Given the description of an element on the screen output the (x, y) to click on. 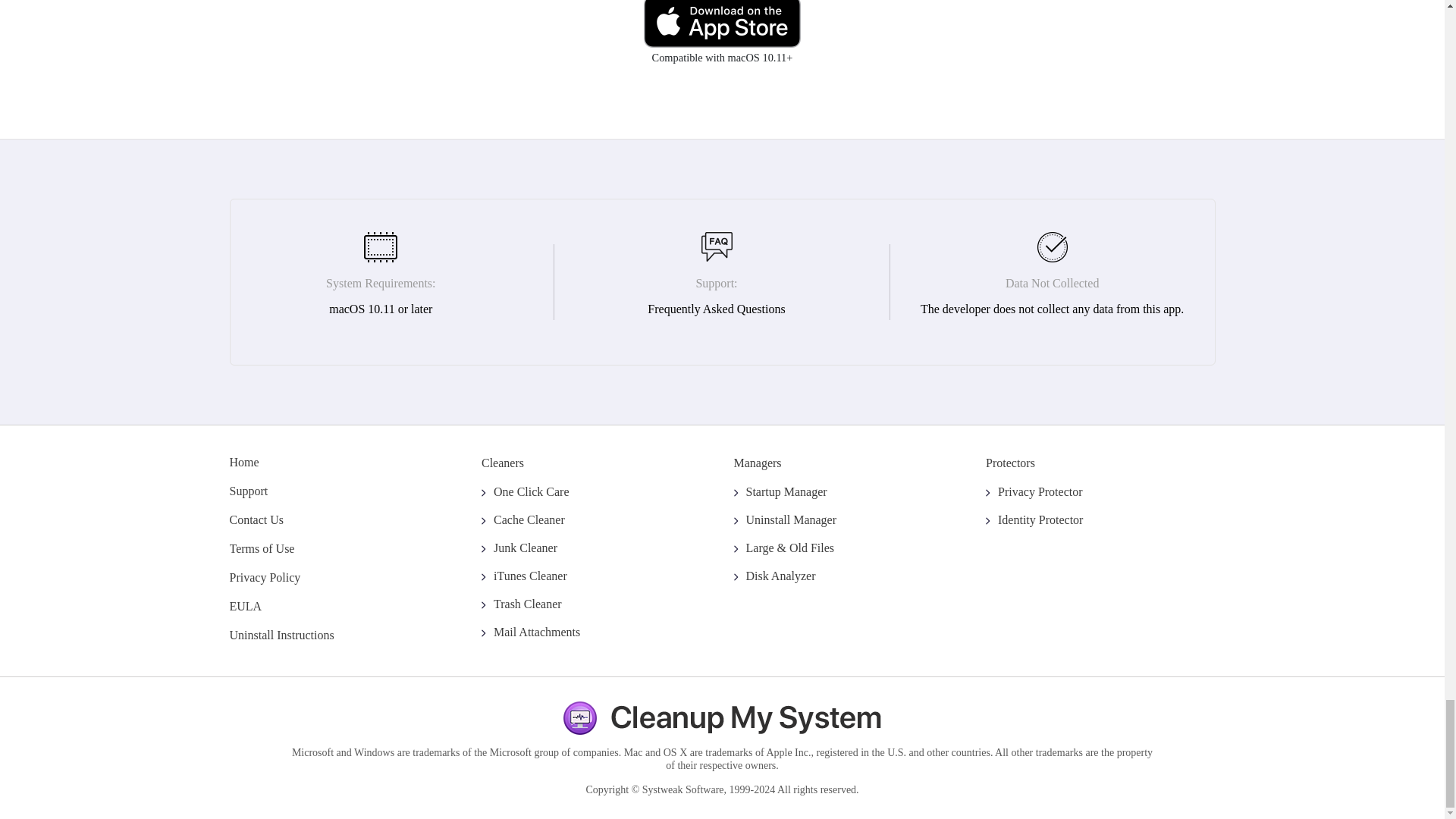
Uninstall Instructions (280, 634)
Contact Us (255, 519)
Home (243, 461)
EULA (245, 605)
One Click Care (525, 491)
Support (247, 490)
iTunes Cleaner (524, 575)
Privacy Policy (263, 576)
Mail Attachments (530, 631)
Junk Cleaner (519, 547)
Trash Cleaner (521, 603)
Cache Cleaner (522, 519)
Terms of Use (261, 548)
